Given the description of an element on the screen output the (x, y) to click on. 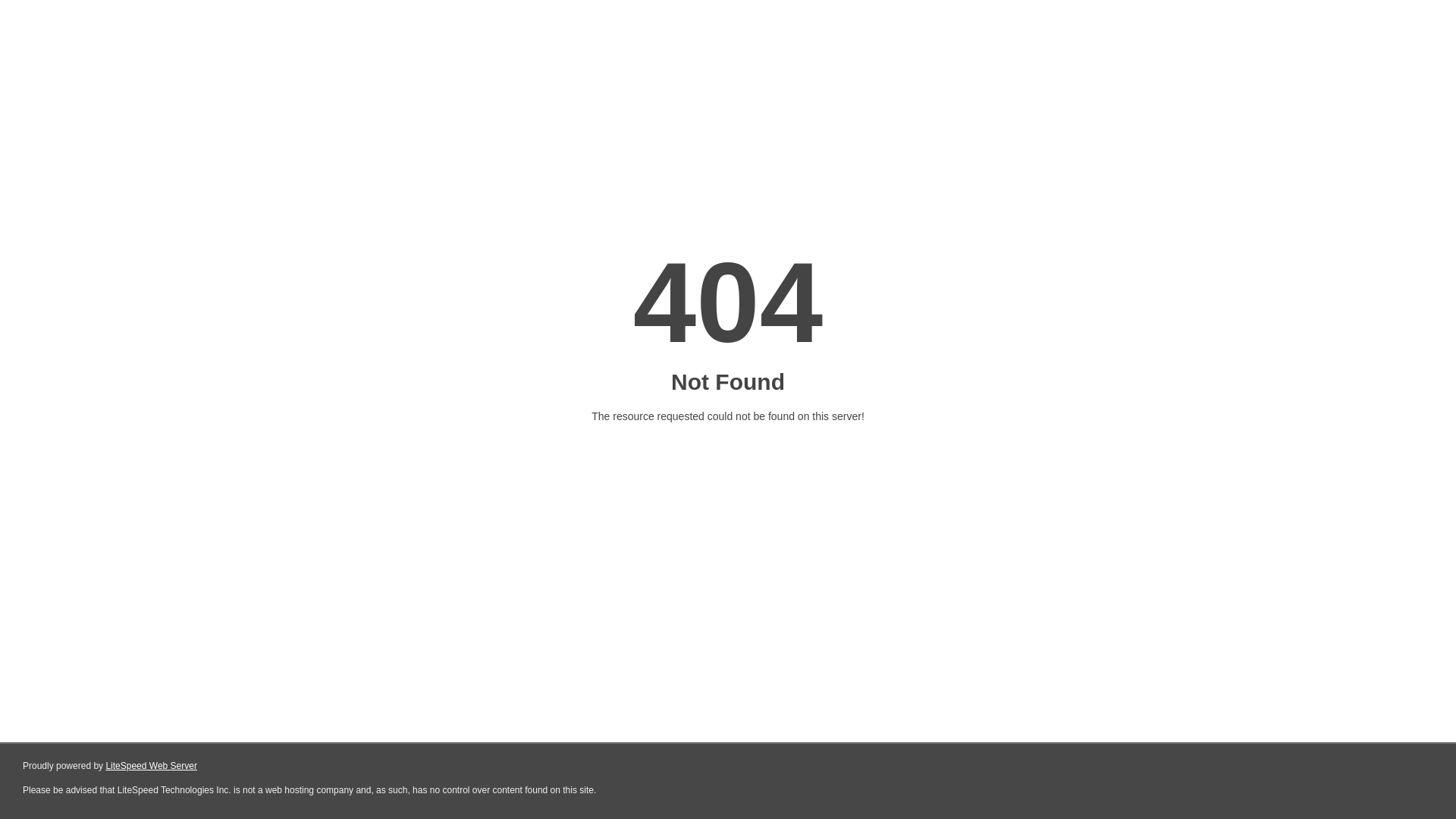
LiteSpeed Web Server Element type: text (151, 765)
